Given the description of an element on the screen output the (x, y) to click on. 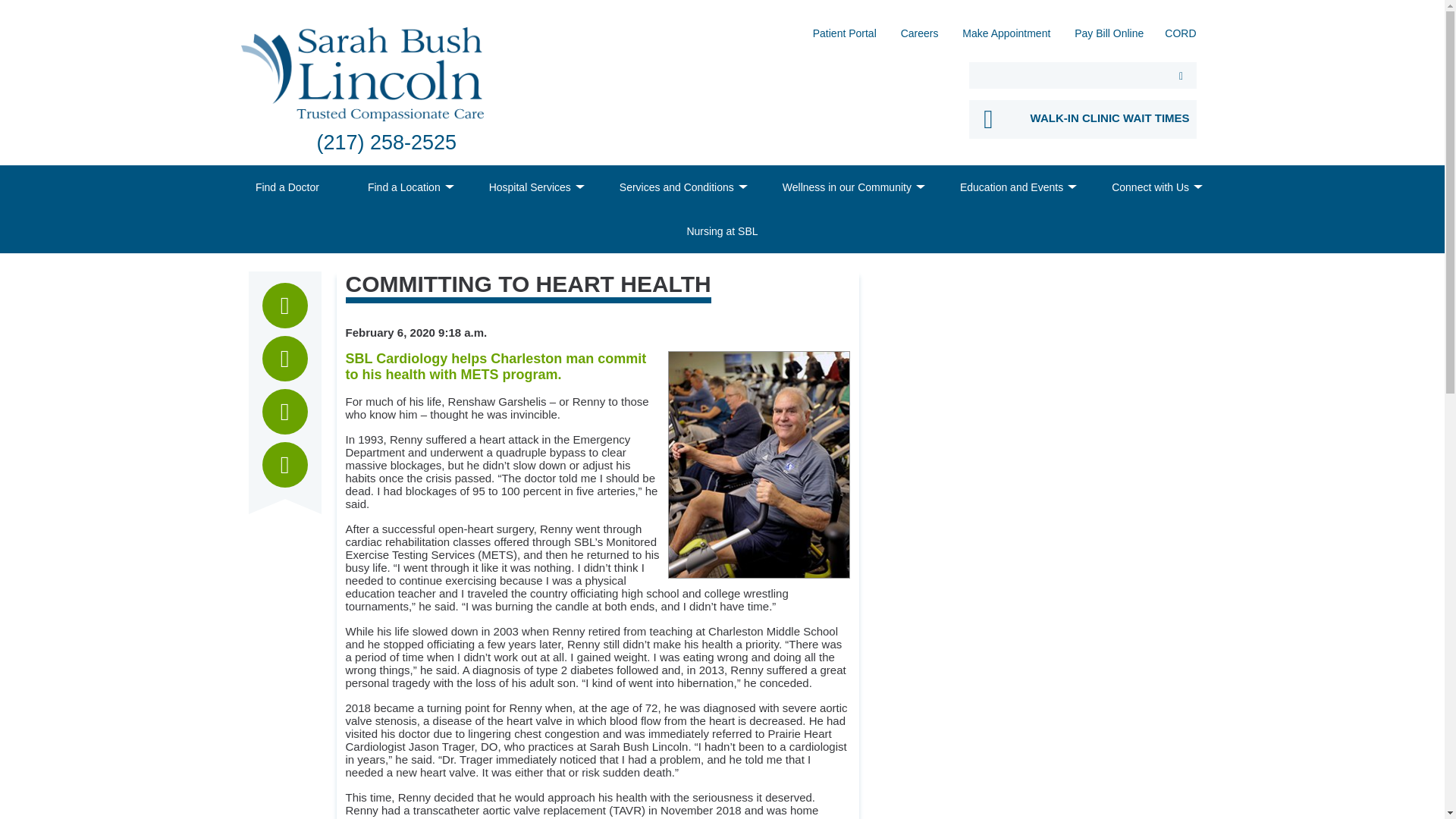
Patient Portal (844, 38)
Find a Location (403, 187)
Search (1181, 75)
Find a Doctor (287, 187)
Careers (920, 38)
Pay Bill Online (1108, 38)
CORD (1179, 38)
WALK-IN CLINIC WAIT TIMES (1082, 118)
Skip to Content (5, 4)
SUBMIT (1181, 75)
Hospital Services (529, 187)
Make Appointment (1005, 38)
